Given the description of an element on the screen output the (x, y) to click on. 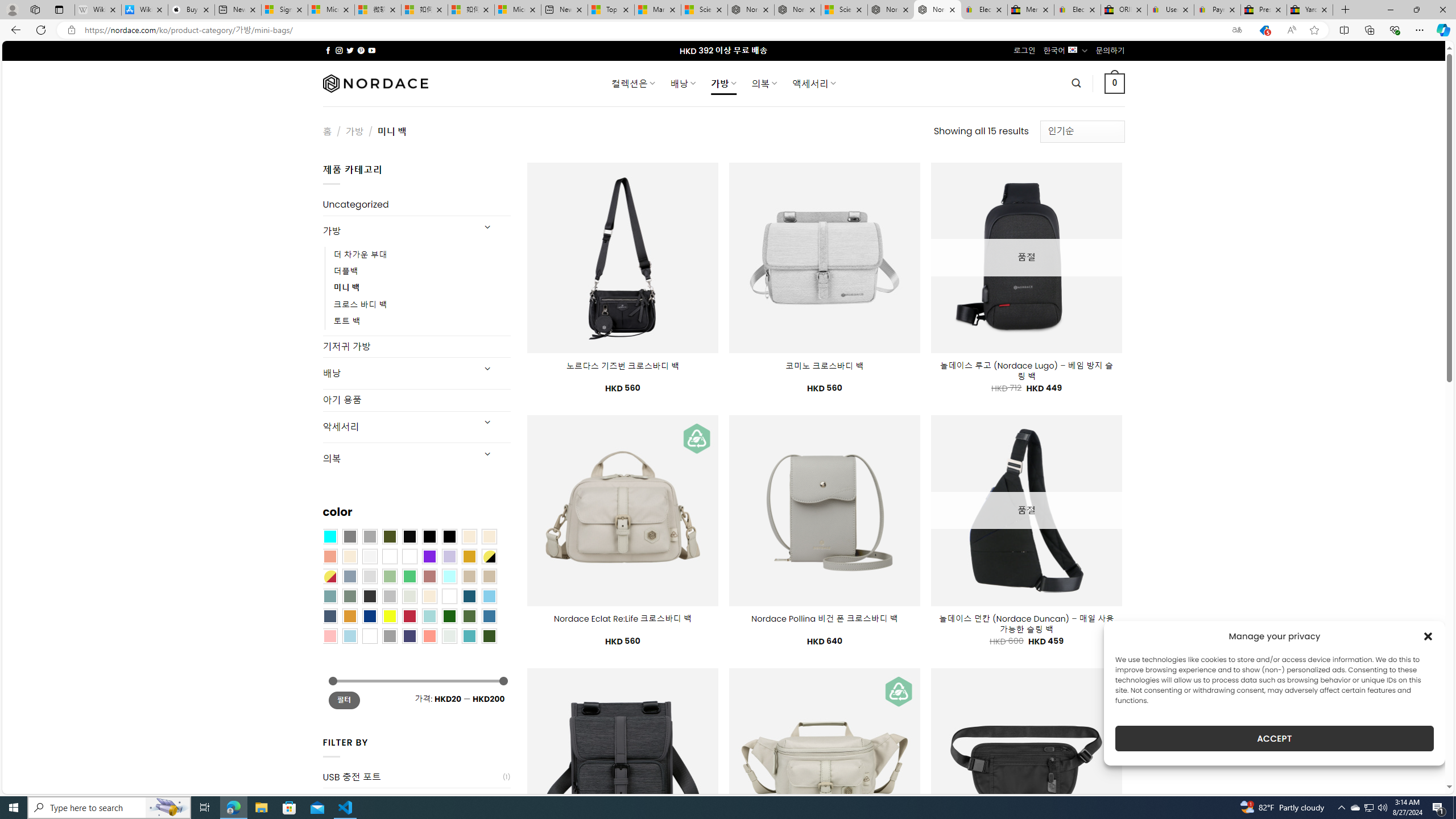
Electronics, Cars, Fashion, Collectibles & More | eBay (1077, 9)
Nordace (374, 83)
Payments Terms of Use | eBay.com (1216, 9)
Yard, Garden & Outdoor Living (1309, 9)
